Given the description of an element on the screen output the (x, y) to click on. 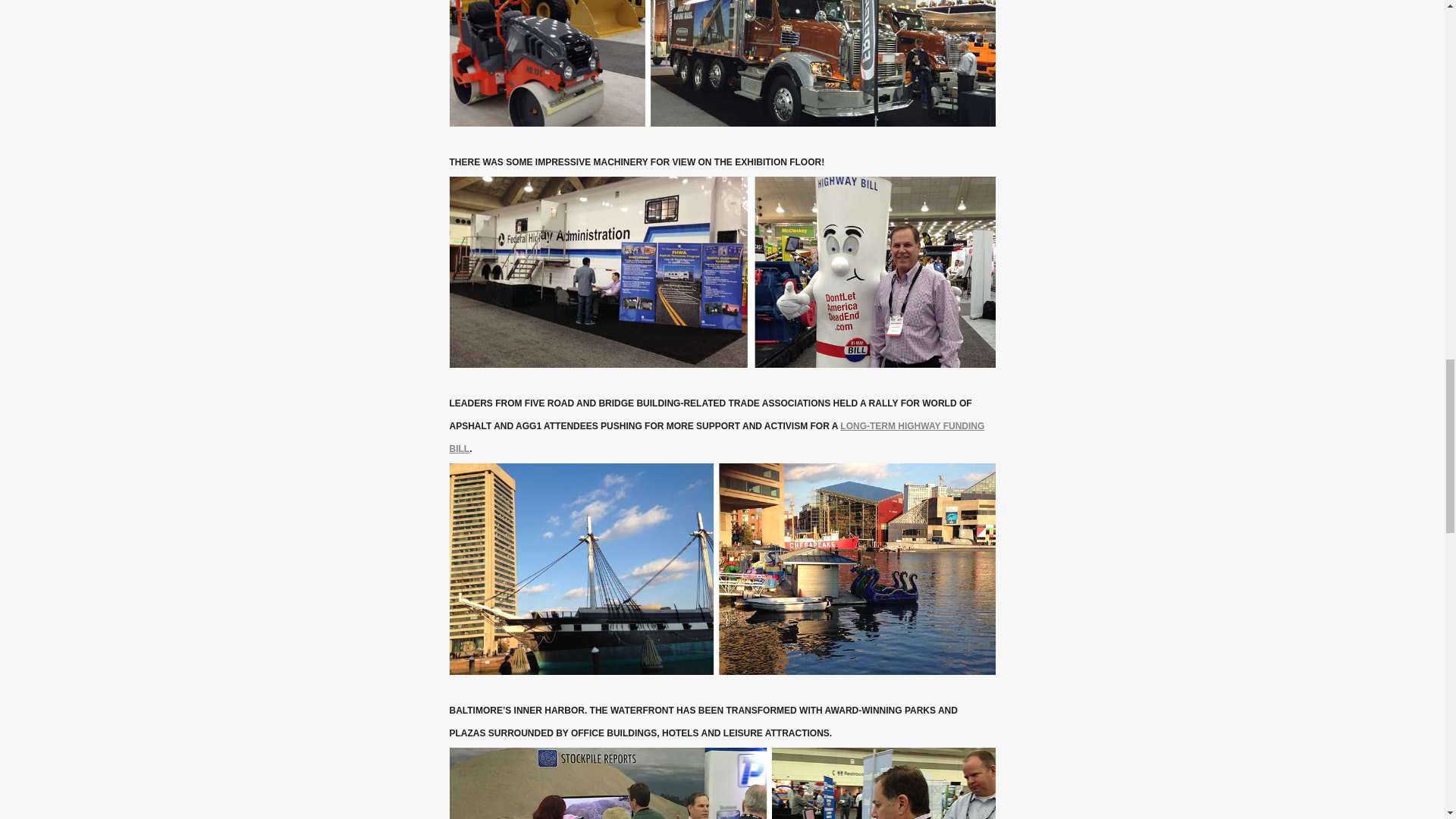
Long-Term Highway Funding Bill (716, 437)
LONG-TERM HIGHWAY FUNDING BILL (716, 437)
